Given the description of an element on the screen output the (x, y) to click on. 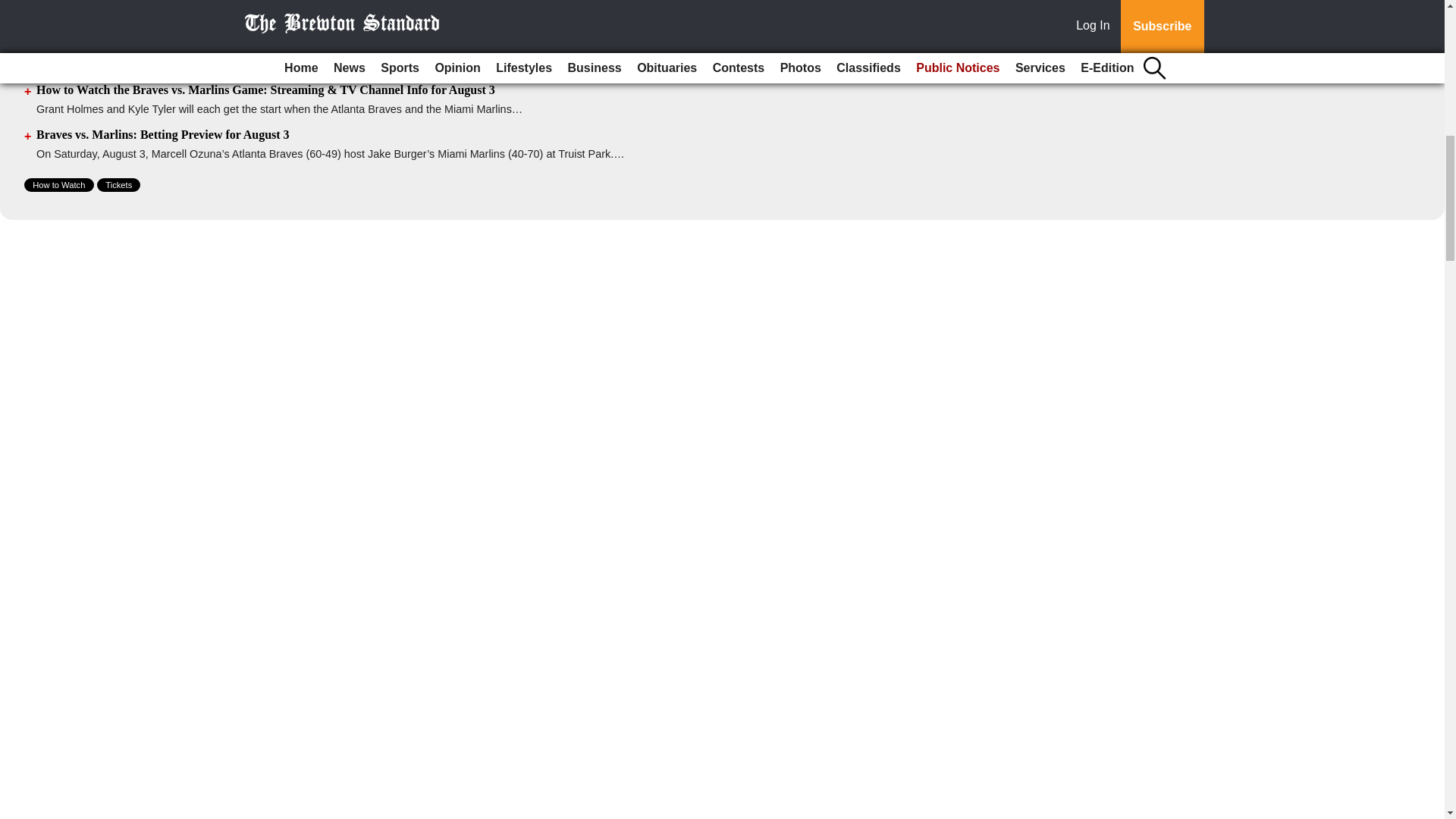
How to Watch (59, 184)
Braves vs. Marlins: Betting Preview for August 4 (162, 2)
Tickets (118, 184)
Braves vs. Marlins: Betting Preview for August 3 (162, 133)
